Given the description of an element on the screen output the (x, y) to click on. 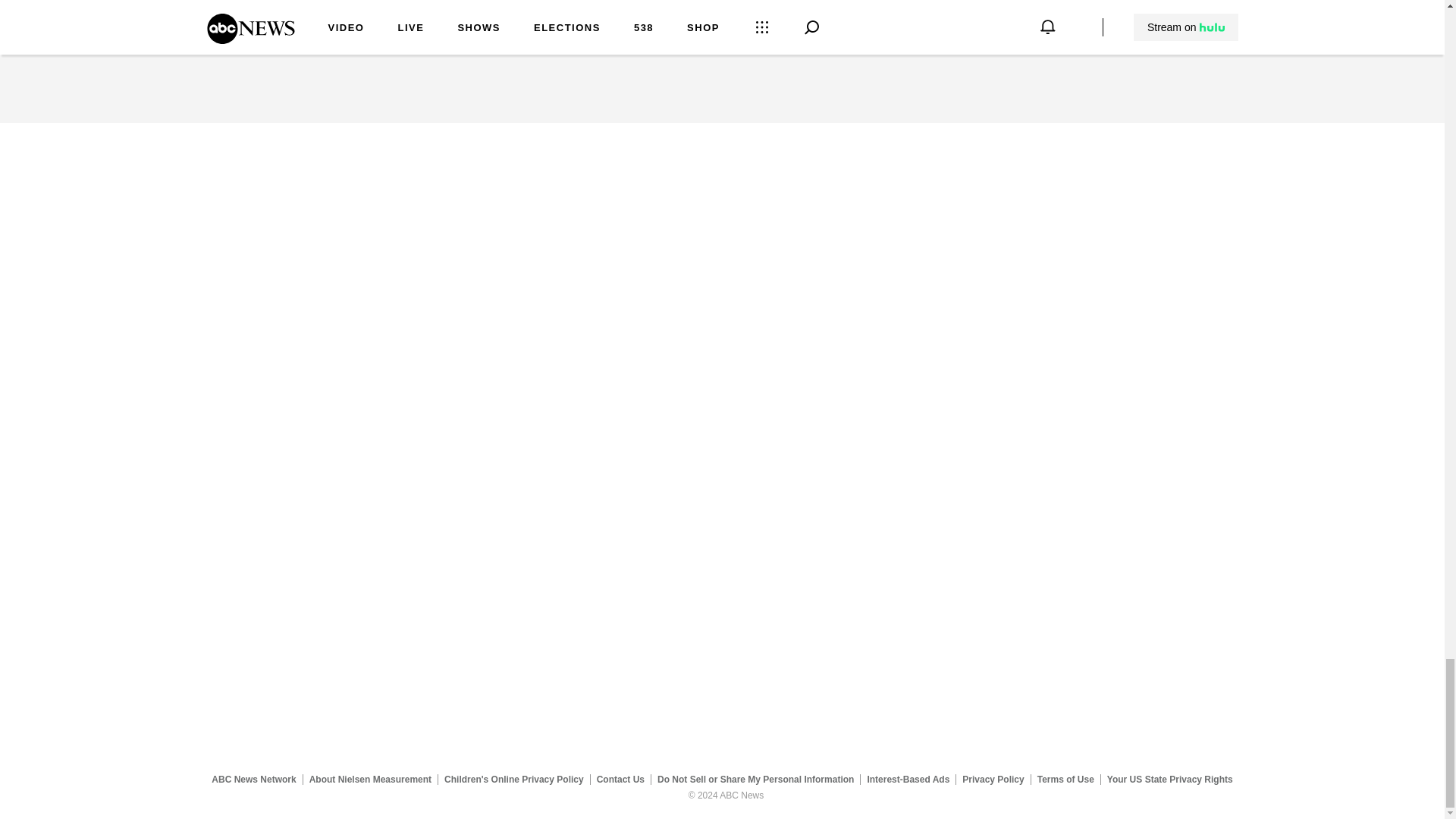
Your US State Privacy Rights (1169, 778)
Contact Us (620, 778)
Privacy Policy (993, 778)
Interest-Based Ads (908, 778)
ABC News Network (253, 778)
Children's Online Privacy Policy (514, 778)
Terms of Use (1065, 778)
Do Not Sell or Share My Personal Information (755, 778)
About Nielsen Measurement (370, 778)
